Given the description of an element on the screen output the (x, y) to click on. 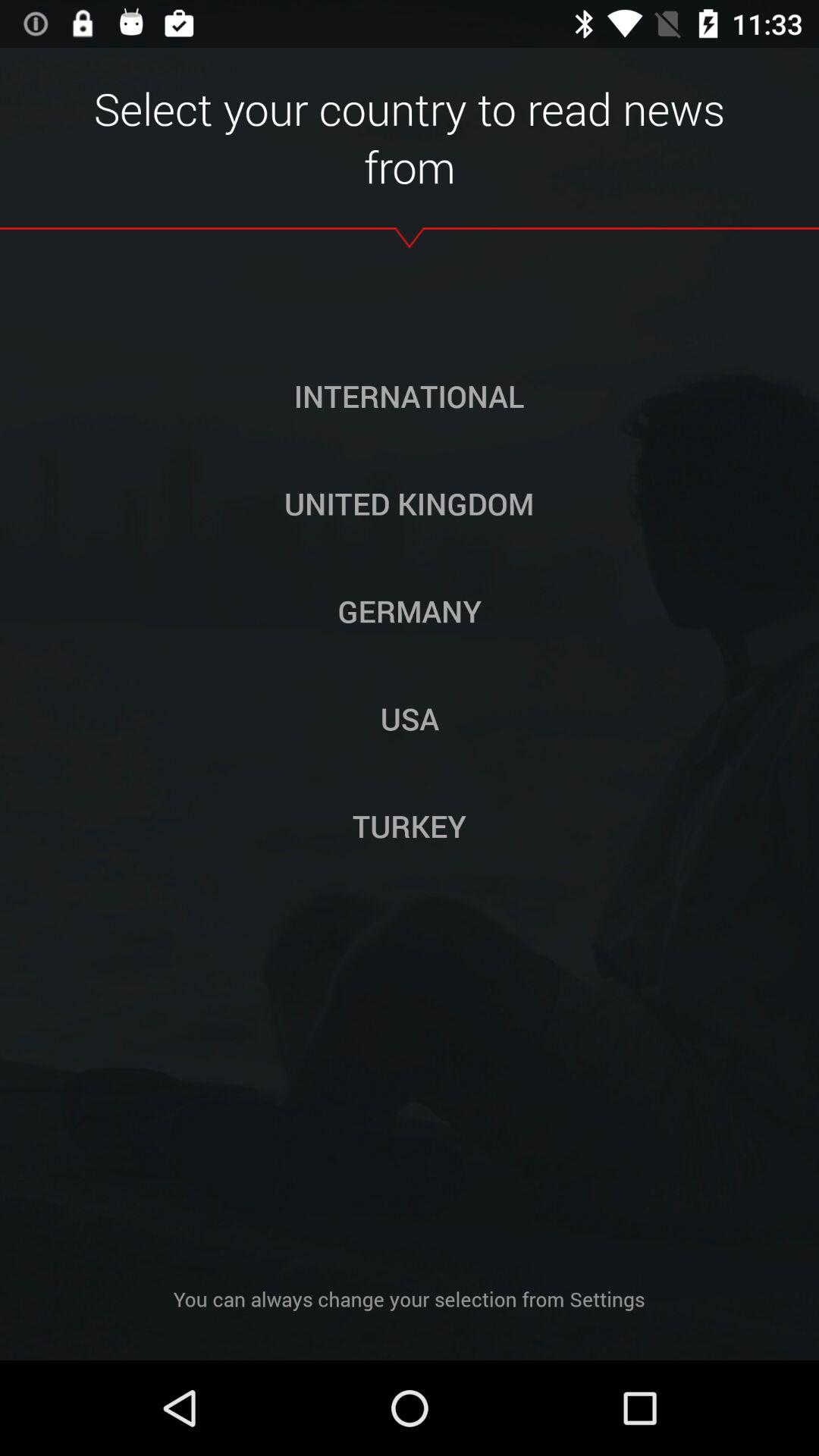
launch the item below united kingdom button (409, 610)
